Given the description of an element on the screen output the (x, y) to click on. 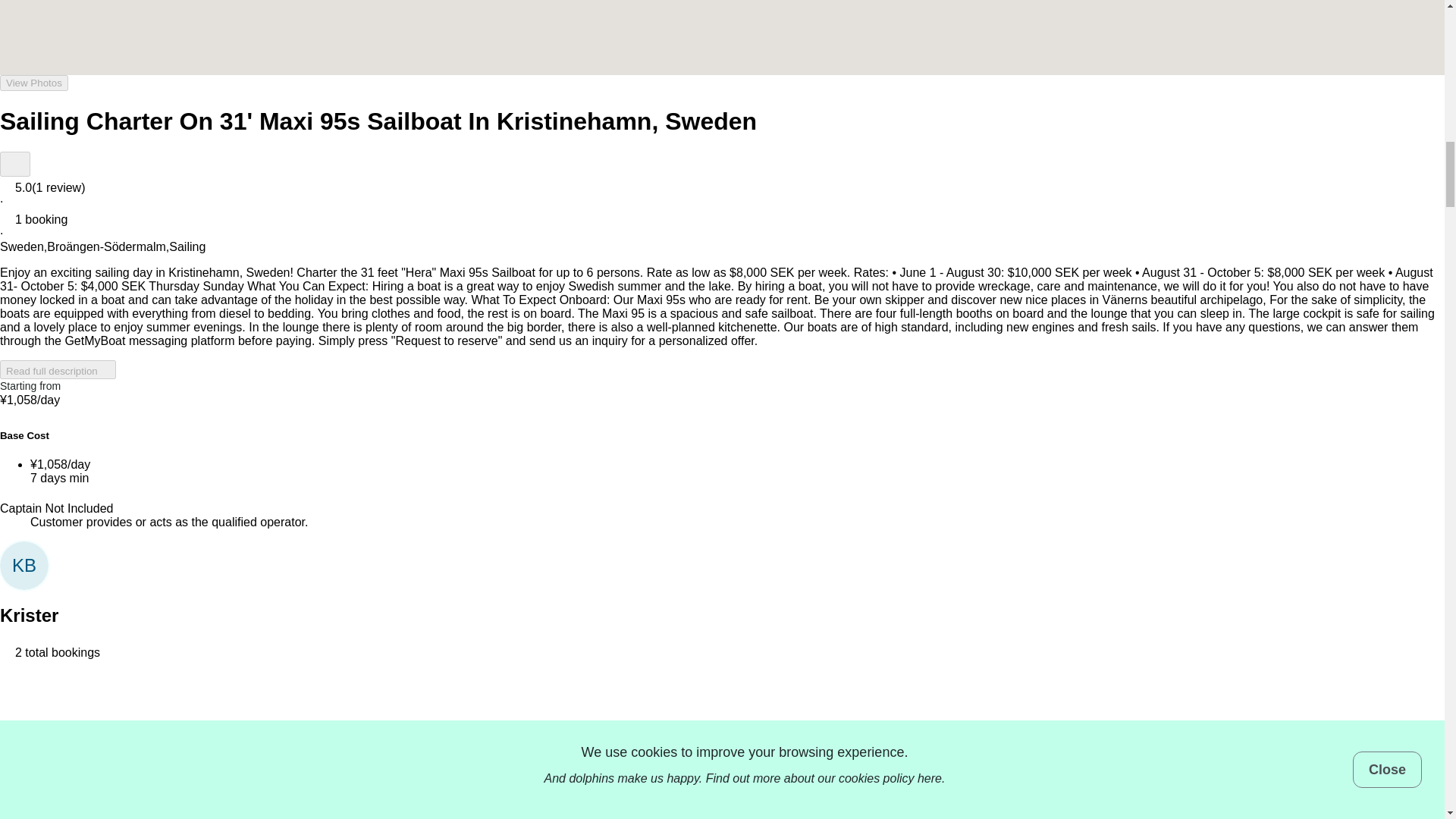
Sweden (21, 246)
View Photos (34, 82)
Read full description (58, 369)
